Given the description of an element on the screen output the (x, y) to click on. 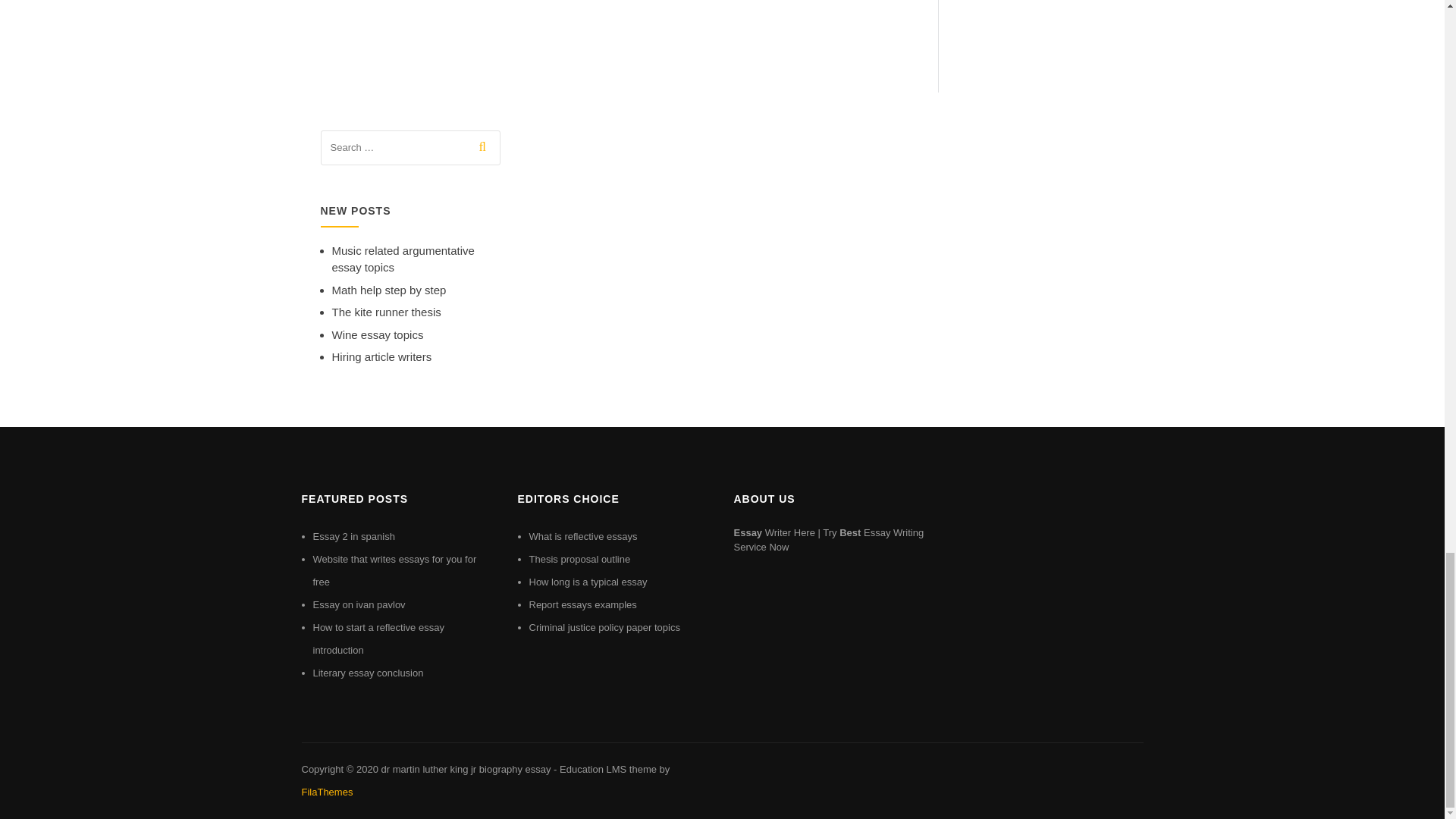
Essay 2 in spanish (353, 536)
Literary essay conclusion (368, 672)
Wine essay topics (377, 334)
dr martin luther king jr biography essay (465, 768)
Essay on ivan pavlov (358, 604)
Hiring article writers (381, 356)
dr martin luther king jr biography essay (465, 768)
Criminal justice policy paper topics (604, 627)
What is reflective essays (583, 536)
How to start a reflective essay introduction (378, 638)
